Given the description of an element on the screen output the (x, y) to click on. 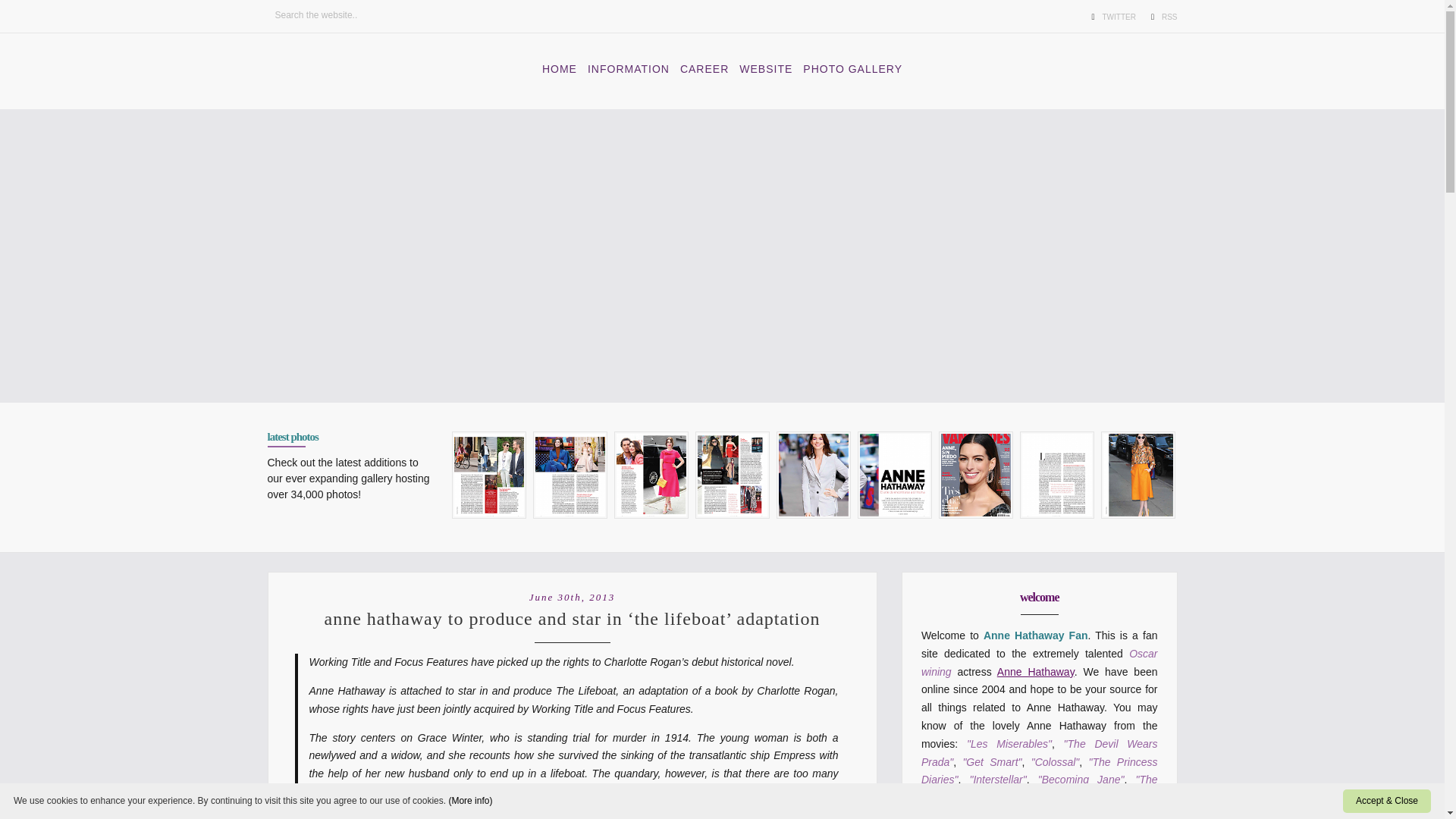
HOME (559, 68)
Search (33, 15)
WEBSITE (765, 68)
CAREER (704, 68)
PHOTO GALLERY (852, 68)
Search the website.. (323, 14)
INFORMATION (628, 68)
